Given the description of an element on the screen output the (x, y) to click on. 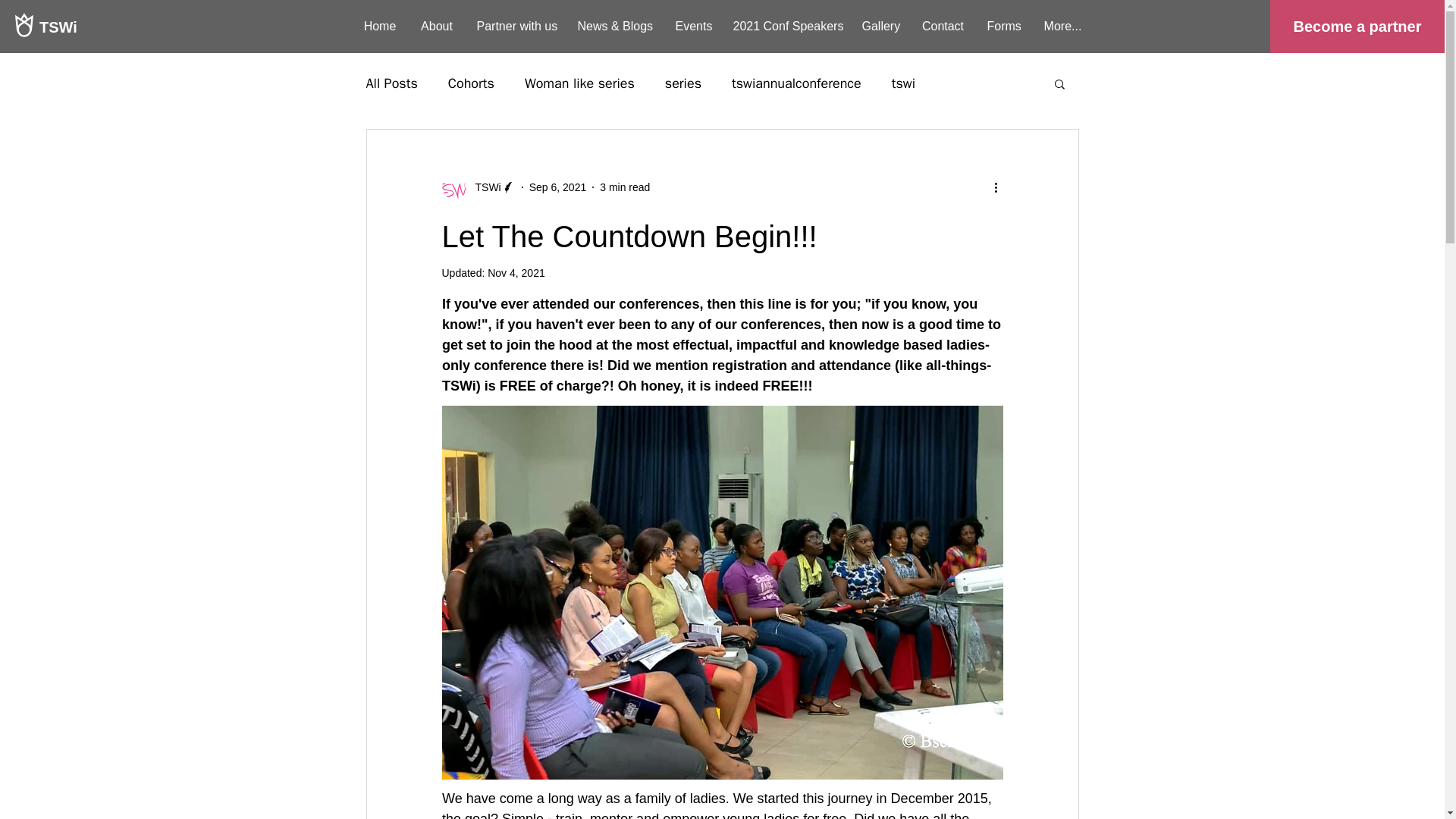
Events (692, 26)
2021 Conf Speakers (786, 26)
Partner with us (515, 26)
Sep 6, 2021 (557, 186)
Cohorts (471, 83)
series (683, 83)
TSWi (145, 26)
About (435, 26)
TSWi (478, 187)
All Posts (390, 83)
Nov 4, 2021 (515, 272)
tswi (903, 83)
Contact (942, 26)
3 min read (624, 186)
TSWi (482, 186)
